Given the description of an element on the screen output the (x, y) to click on. 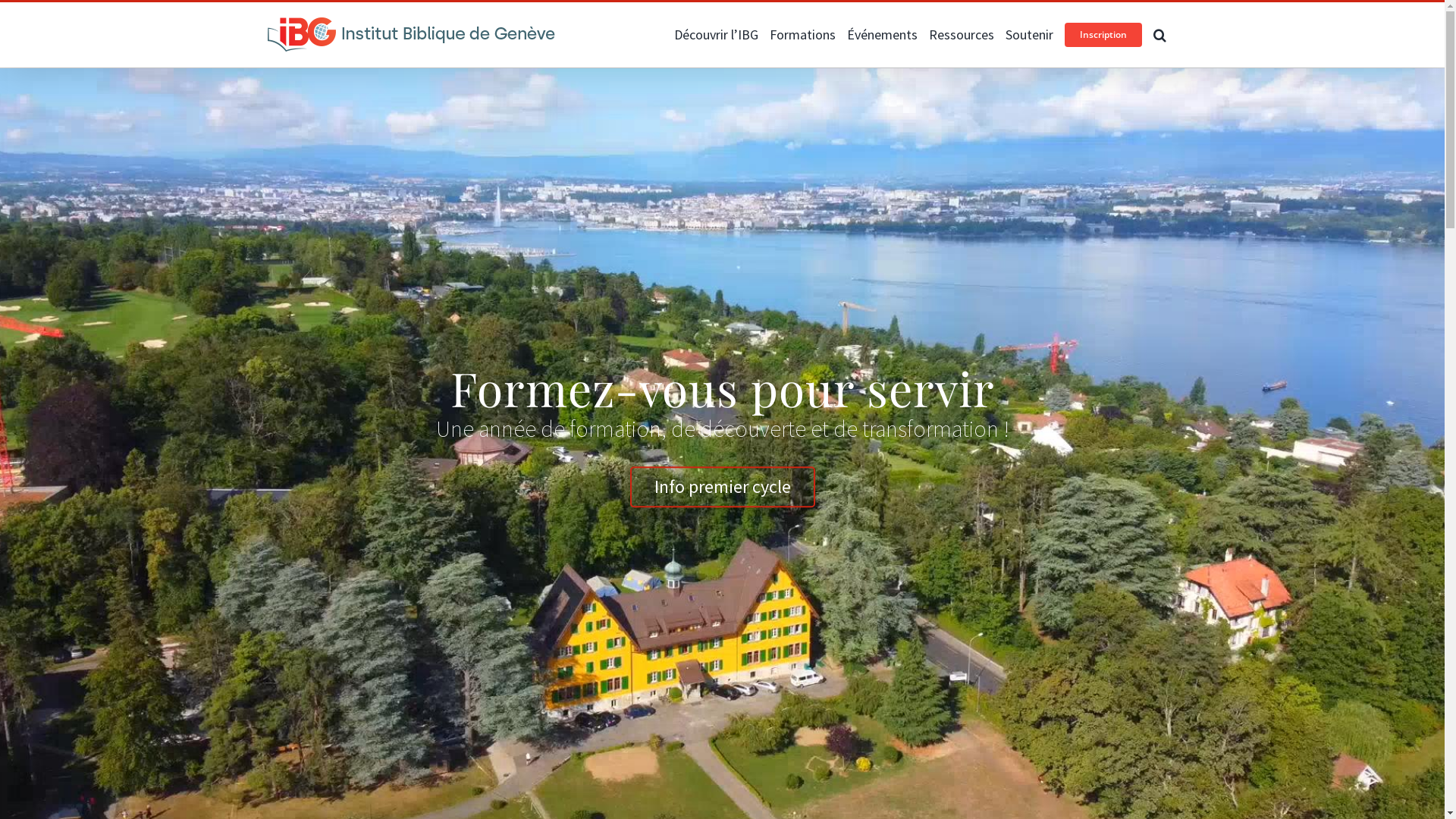
Email Element type: text (327, 16)
Soutenir Element type: text (1029, 34)
Instagram Element type: text (300, 16)
Recherche Element type: hover (1158, 34)
Facebook Element type: text (272, 16)
Ressources Element type: text (960, 34)
Formations Element type: text (801, 34)
Info premier cycle Element type: text (721, 486)
Inscription Element type: text (1103, 34)
